Given the description of an element on the screen output the (x, y) to click on. 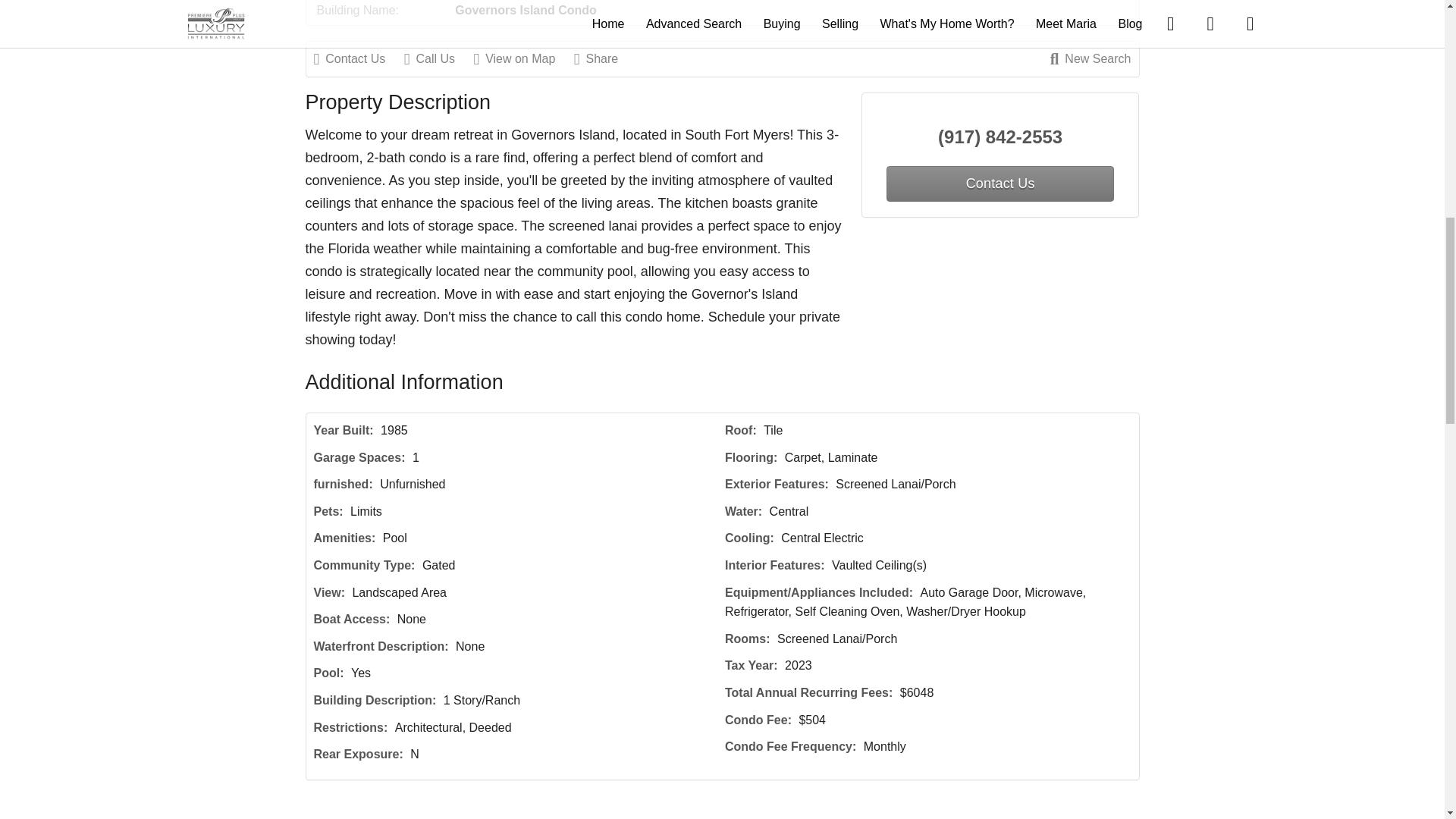
Contact Us (357, 58)
Contact Us (999, 183)
View on Map (521, 58)
Share (603, 58)
Call Us (437, 58)
New Search (1090, 58)
